Given the description of an element on the screen output the (x, y) to click on. 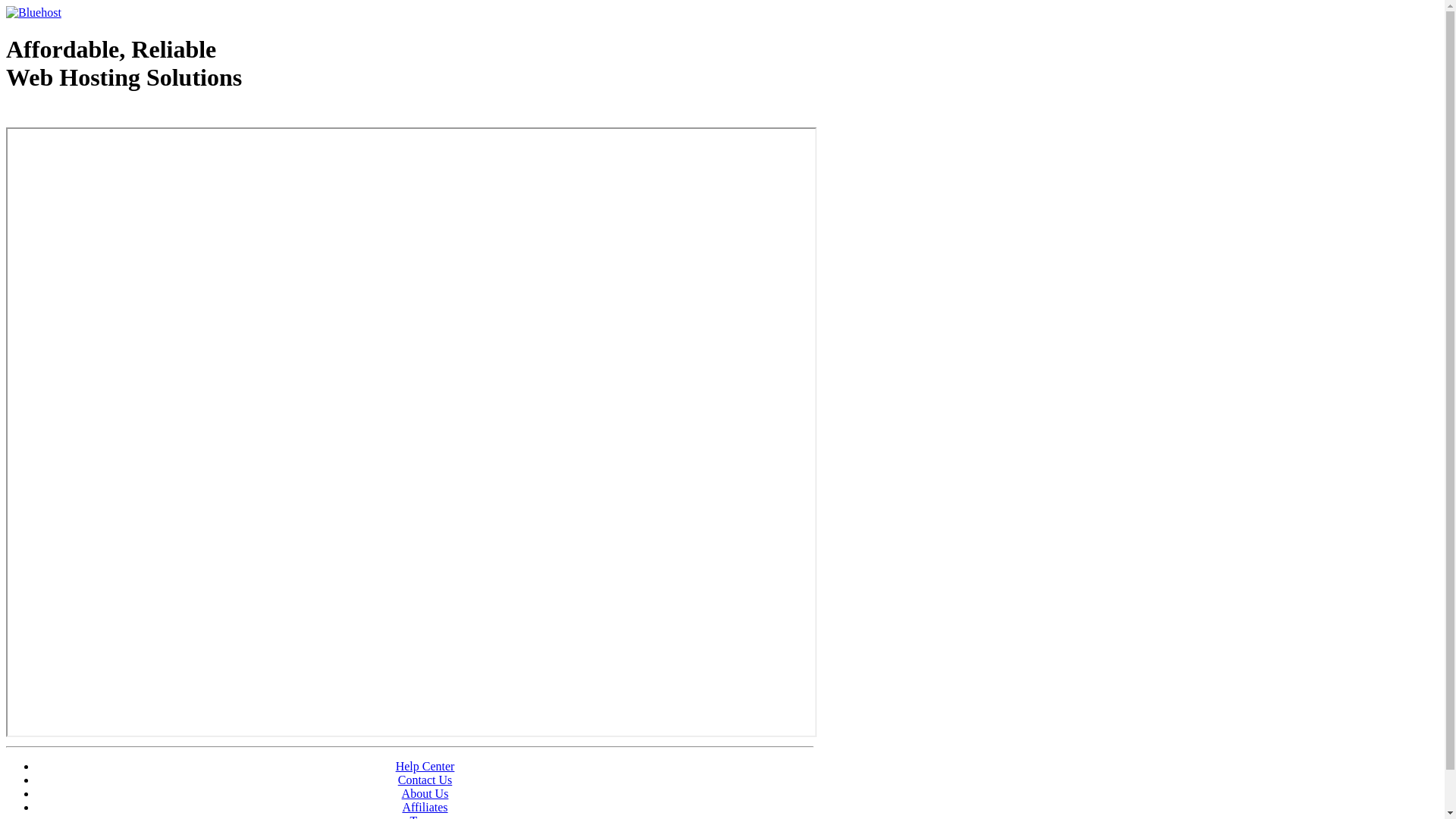
Web Hosting - courtesy of www.bluehost.com Element type: text (94, 115)
Help Center Element type: text (425, 765)
Contact Us Element type: text (425, 779)
Affiliates Element type: text (424, 806)
About Us Element type: text (424, 793)
